Given the description of an element on the screen output the (x, y) to click on. 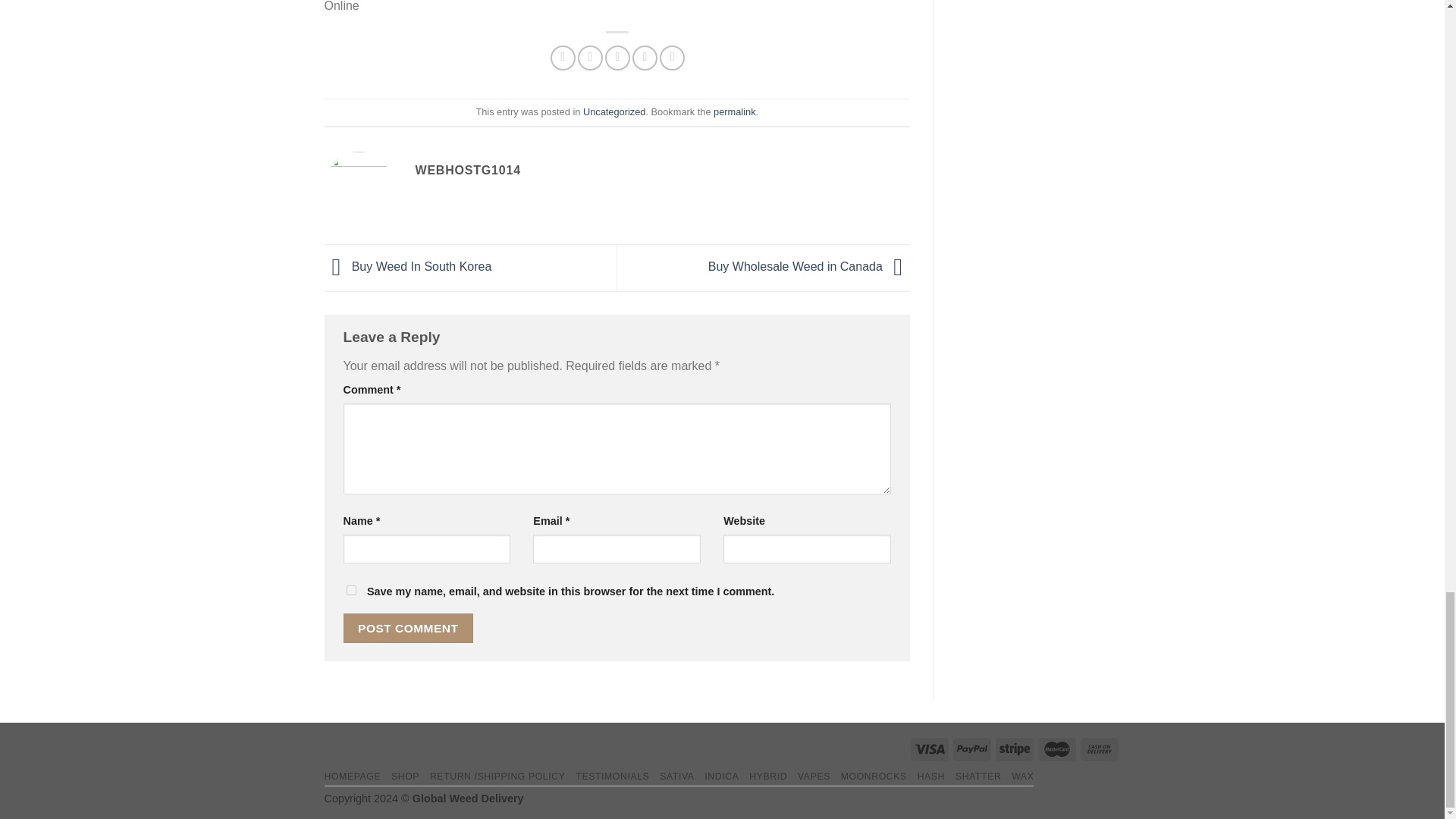
yes (350, 590)
Uncategorized (614, 111)
Email to a Friend (617, 57)
permalink (734, 111)
Post Comment (407, 627)
Share on LinkedIn (671, 57)
Buy Weed In South Korea (408, 266)
Share on Facebook (562, 57)
Permalink to Buy Weed In Saudi Arabia (734, 111)
Pin on Pinterest (644, 57)
Share on Twitter (590, 57)
